Given the description of an element on the screen output the (x, y) to click on. 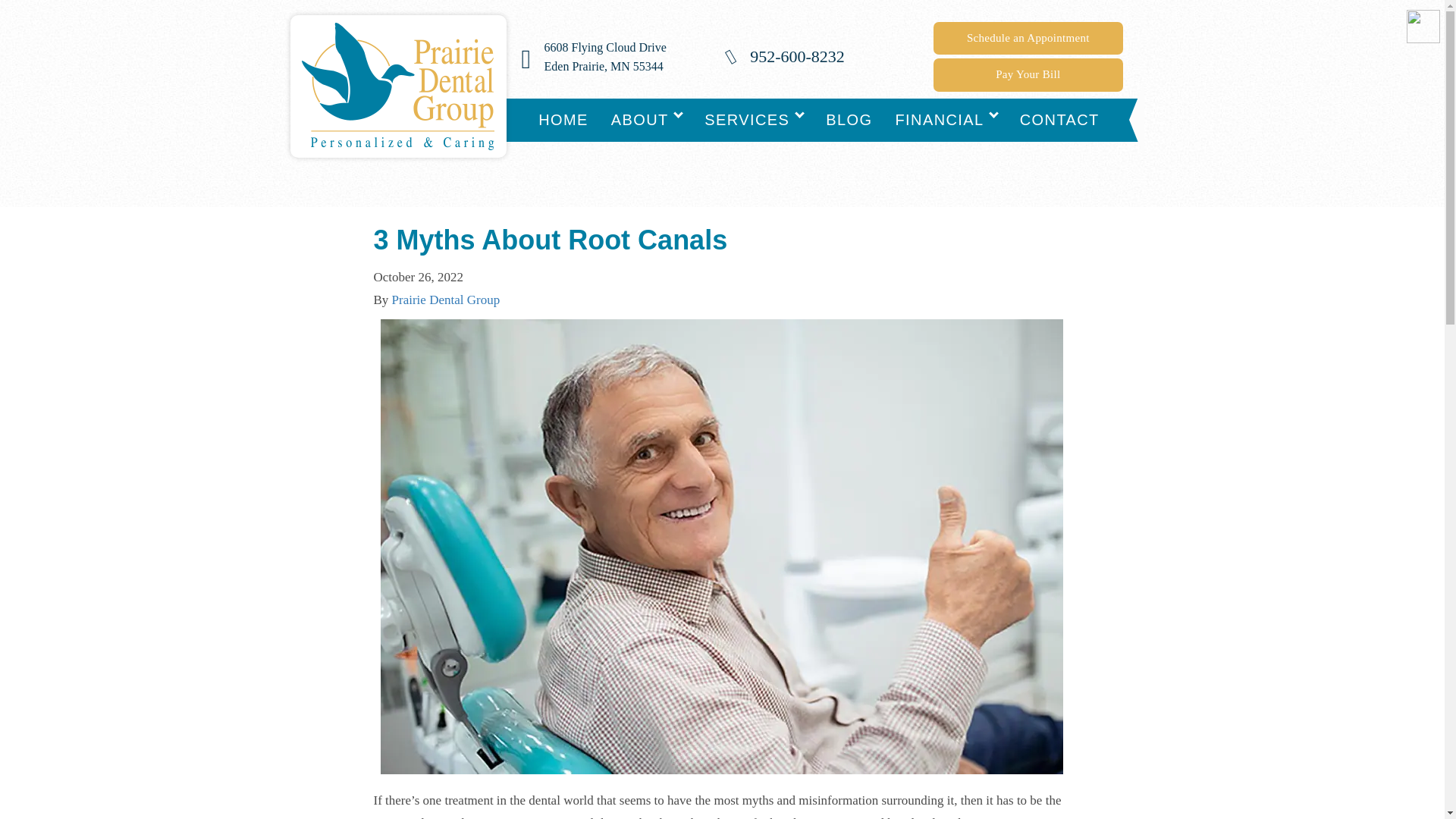
Home (563, 119)
SERVICES (753, 119)
Services (753, 119)
HOME (563, 119)
BLOG (848, 119)
About (605, 56)
Schedule an Appointment (646, 119)
ABOUT (1027, 38)
FINANCIAL (646, 119)
